Given the description of an element on the screen output the (x, y) to click on. 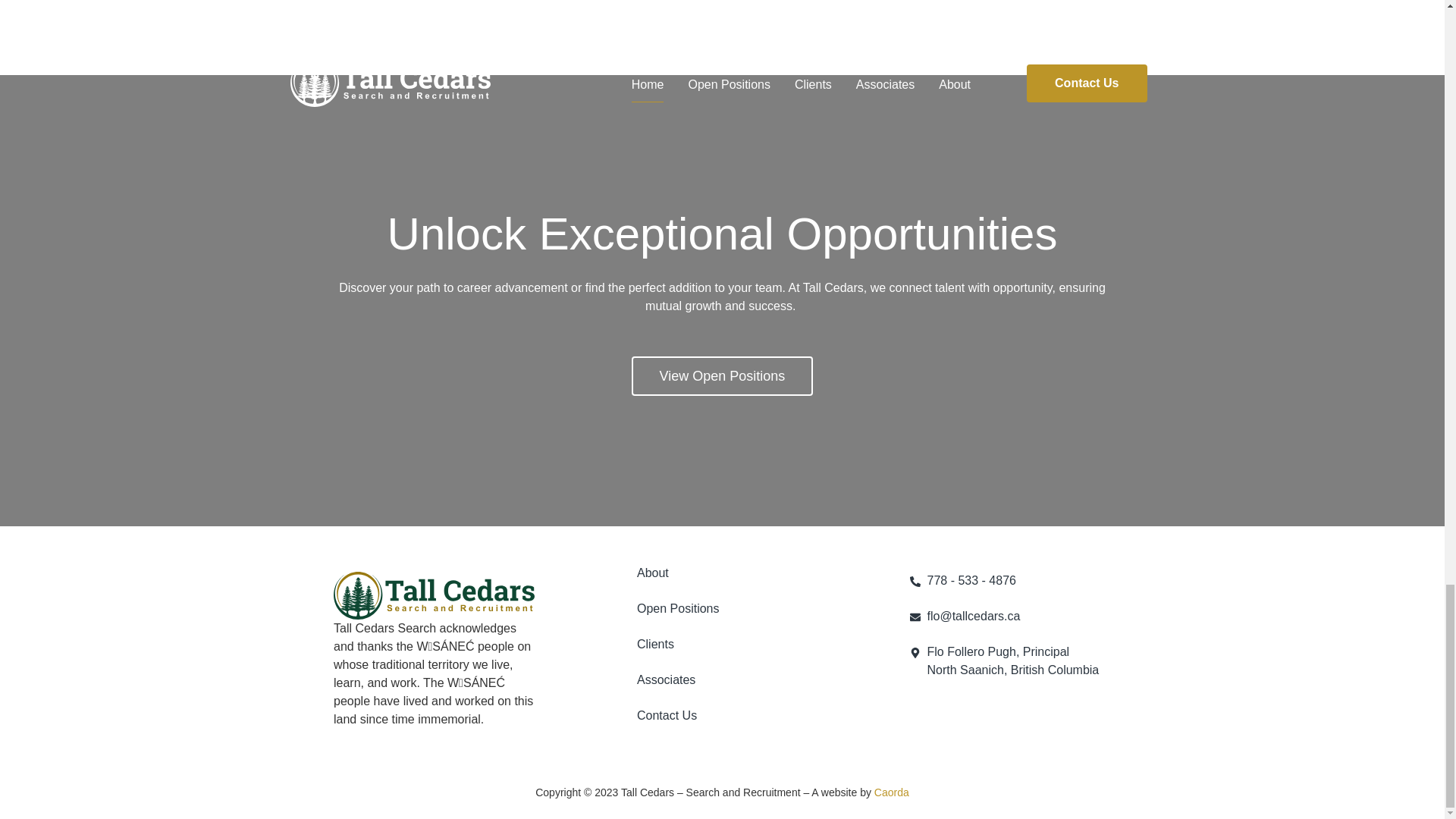
About (733, 573)
Associates (733, 679)
Clients (733, 644)
Contact Us (733, 715)
Open Positions (733, 608)
778 - 533 - 4876 (1010, 580)
View Open Positions (1010, 660)
